Given the description of an element on the screen output the (x, y) to click on. 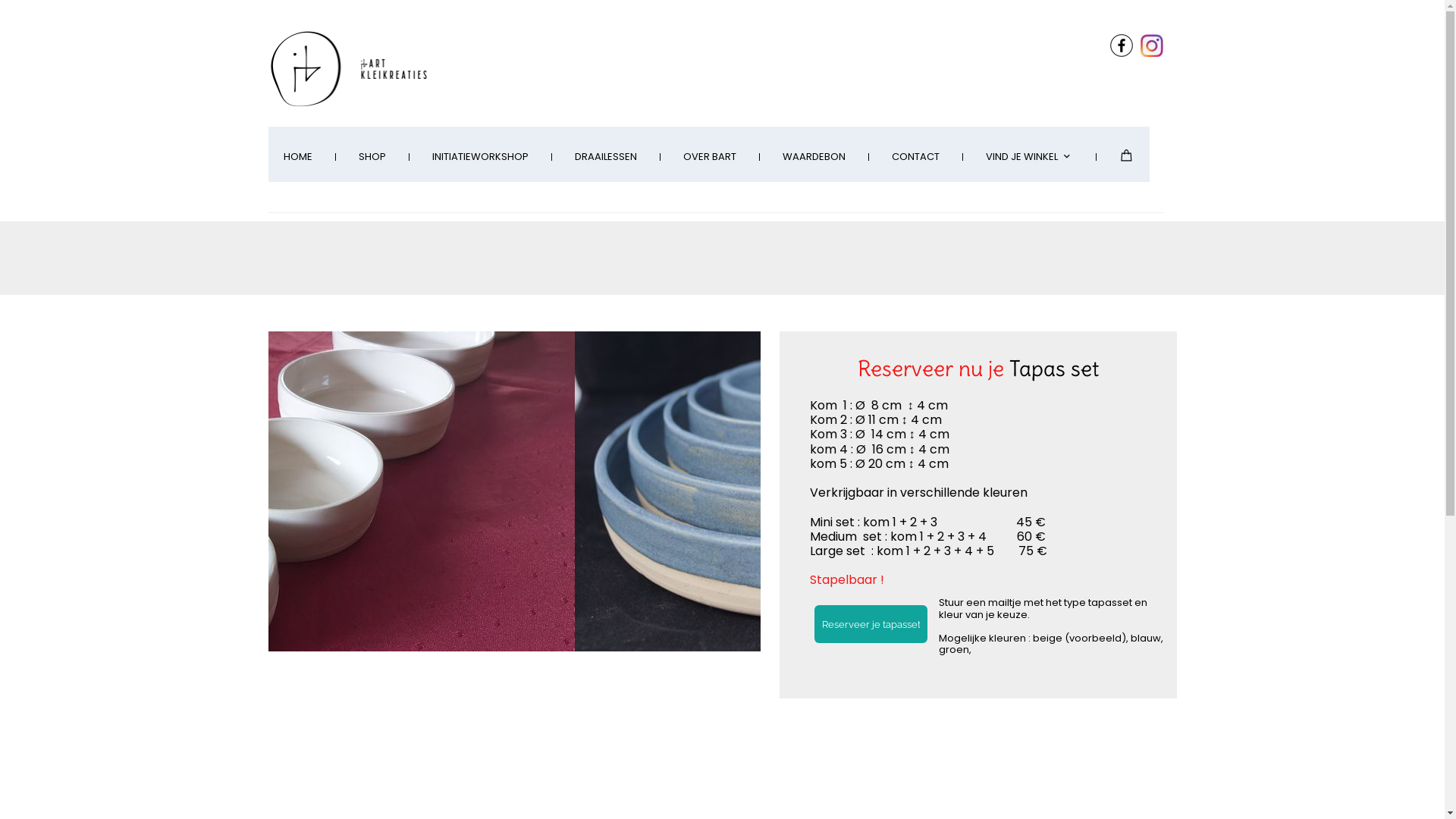
CONTACT Element type: text (915, 157)
SHOP Element type: text (371, 157)
HOME Element type: text (297, 157)
INITIATIEWORKSHOP Element type: text (480, 157)
Reserveer je tapasset Element type: text (870, 624)
20200427  (2)tapasset blauw Element type: hover (971, 491)
WAARDEBON Element type: text (813, 157)
20200424 (6) tapasset Element type: hover (501, 491)
DRAAILESSEN Element type: text (605, 157)
OVER BART Element type: text (708, 157)
20200424 (6) tapasset Element type: hover (495, 491)
VIND JE WINKEL Element type: text (1029, 157)
20200427  (2)tapasset blauw Element type: hover (950, 491)
